Given the description of an element on the screen output the (x, y) to click on. 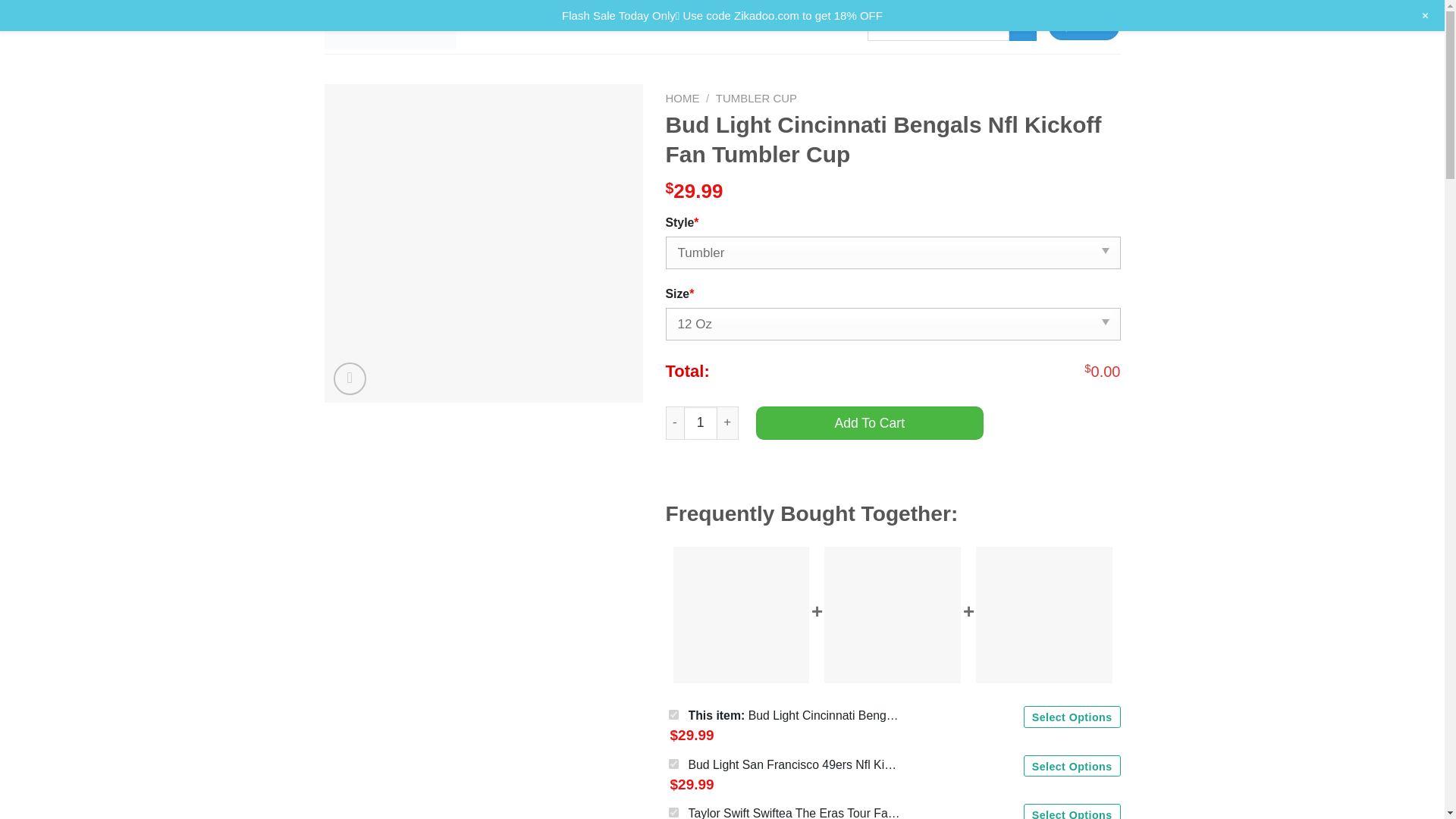
Qty (700, 422)
SHOP (570, 26)
285667 (673, 714)
Bud Light San Francisco 49ers Nfl Kickoff Fan Tumbler Cup (794, 764)
Add To Cart (869, 422)
285666 (673, 764)
1 (700, 422)
Bud Light Cincinnati Bengals Nfl Kickoff Fan Tumbler Cup (483, 243)
HOME (682, 97)
